Given the description of an element on the screen output the (x, y) to click on. 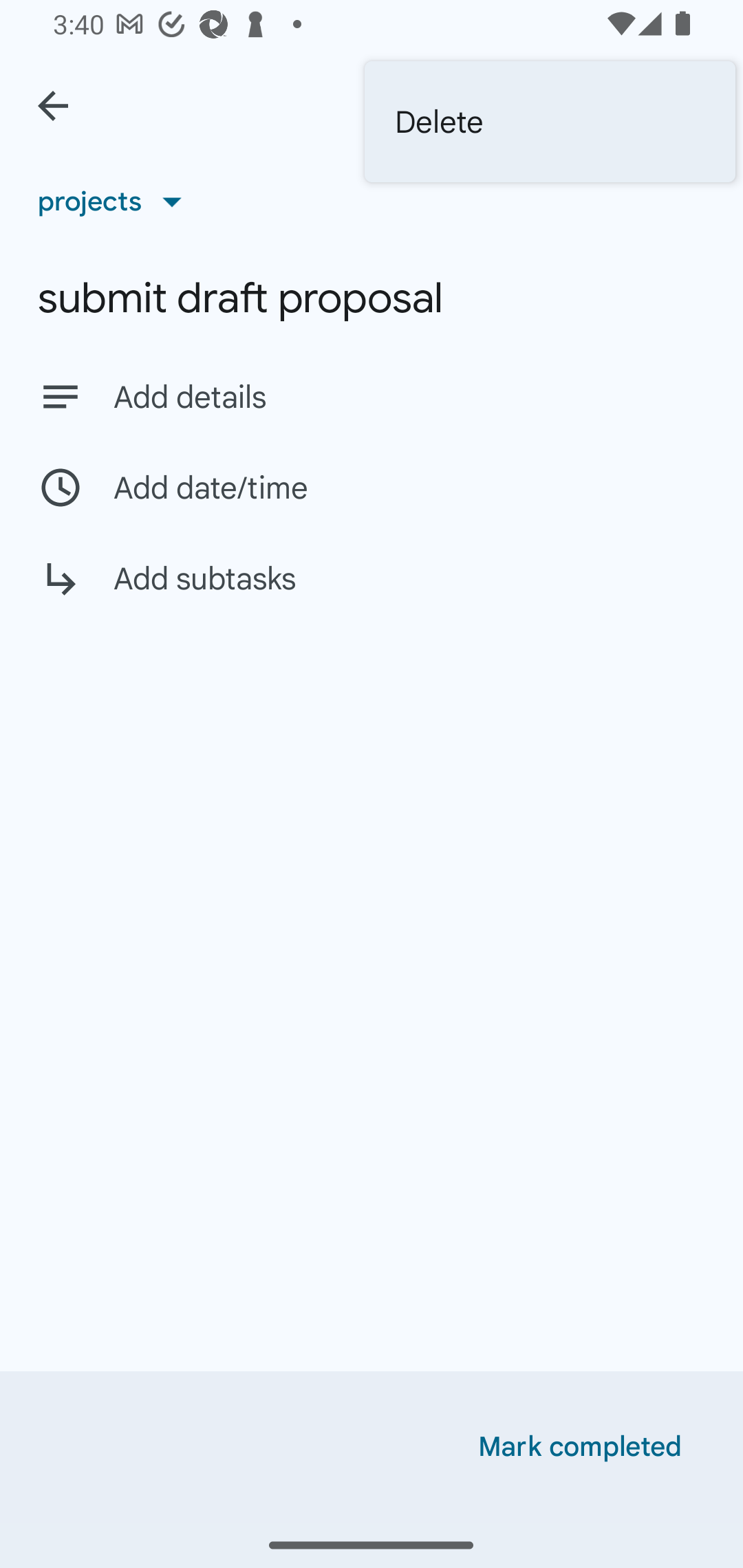
Delete (549, 121)
